Given the description of an element on the screen output the (x, y) to click on. 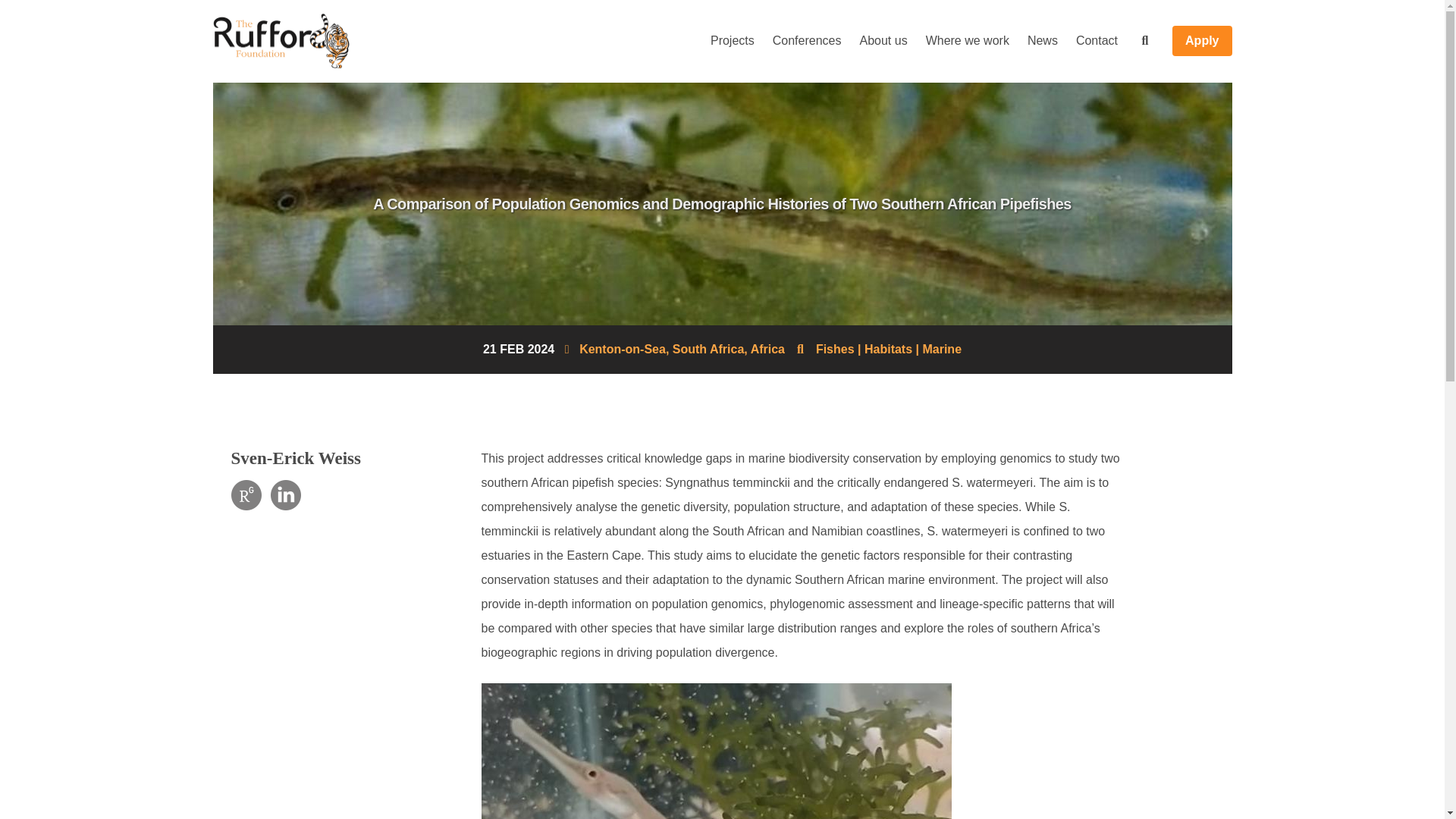
Projects in Habitats category (888, 349)
Apply (1201, 40)
Fishes (834, 349)
Projects in Marine category (940, 349)
Africa (767, 349)
Projects in Africa (767, 349)
Projects in South Africa (710, 349)
Where we work (967, 41)
Conferences (806, 41)
South Africa, (710, 349)
